Given the description of an element on the screen output the (x, y) to click on. 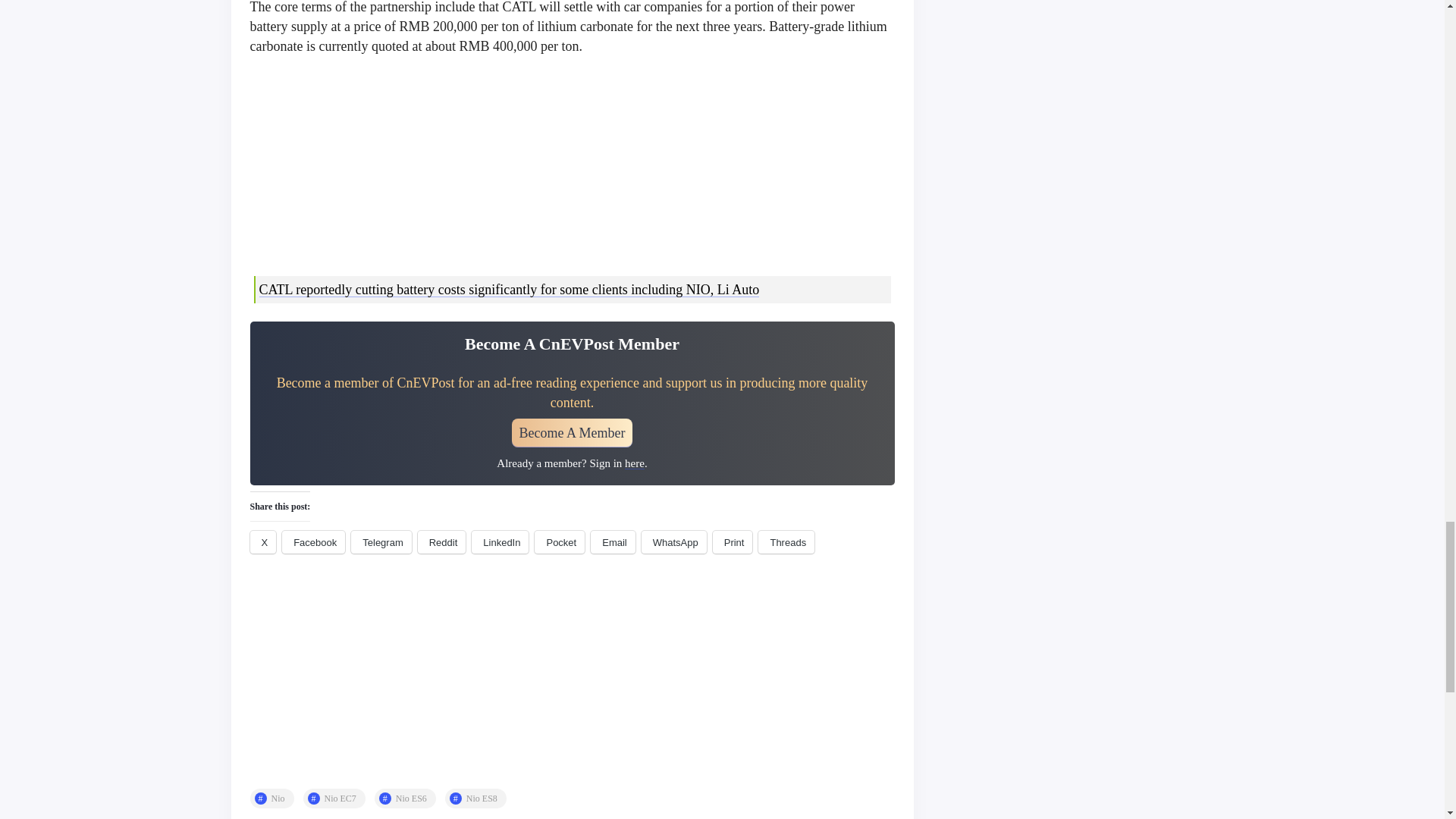
Click to share on WhatsApp (674, 541)
Click to share on Pocket (559, 541)
Click to share on Telegram (380, 541)
Click to print (732, 541)
Click to share on LinkedIn (499, 541)
here (634, 463)
X (263, 541)
Click to share on X (263, 541)
Click to share on Reddit (441, 541)
Click to share on Facebook (313, 541)
Become A Member (572, 432)
Click to email a link to a friend (612, 541)
